Given the description of an element on the screen output the (x, y) to click on. 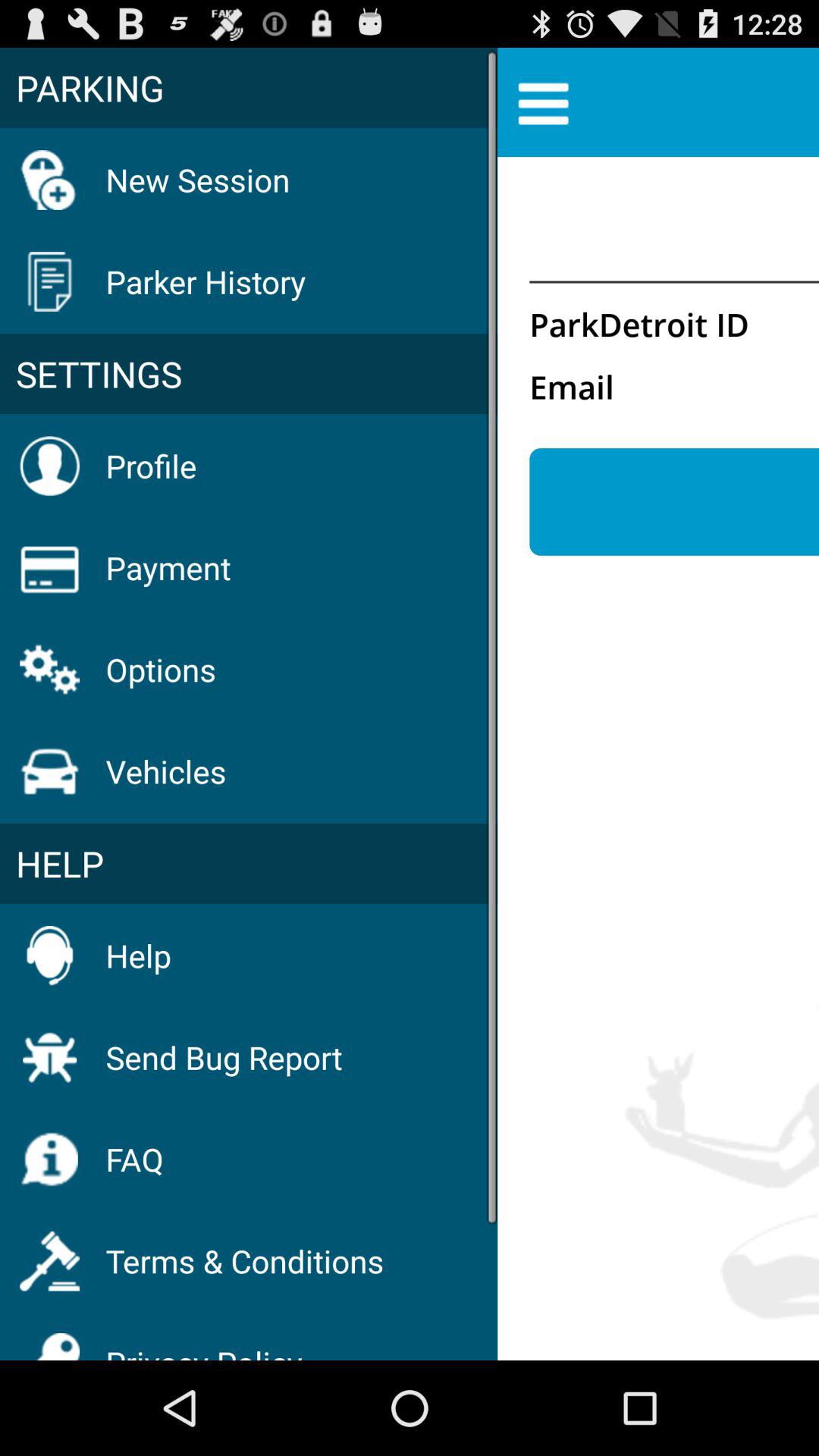
select the item below faq item (244, 1260)
